Given the description of an element on the screen output the (x, y) to click on. 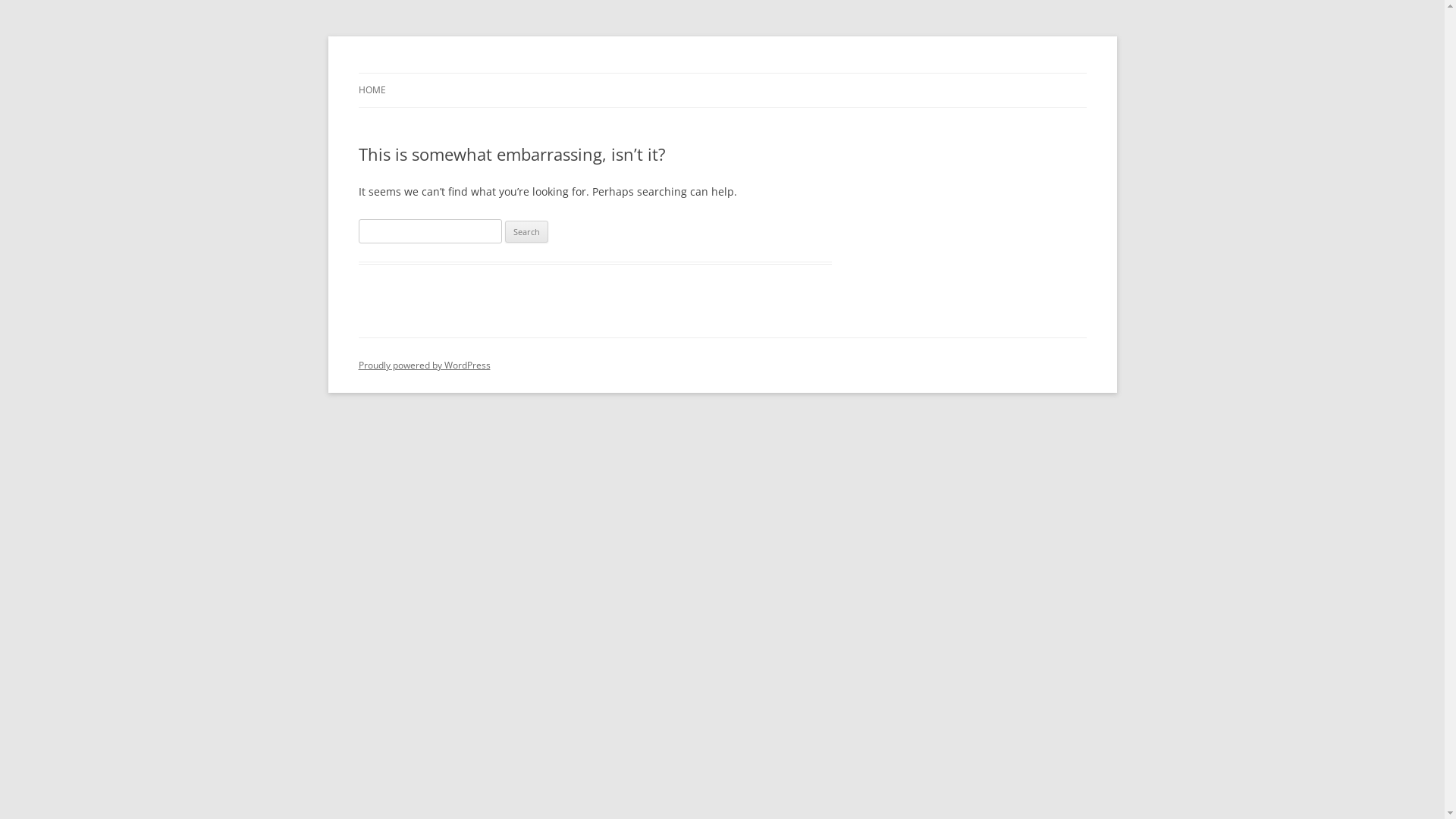
Proudly powered by WordPress Element type: text (423, 364)
HOME Element type: text (371, 89)
Search Element type: text (526, 231)
Skip to content Element type: text (721, 72)
Outdoor Patio Awnings Element type: text (471, 72)
